Given the description of an element on the screen output the (x, y) to click on. 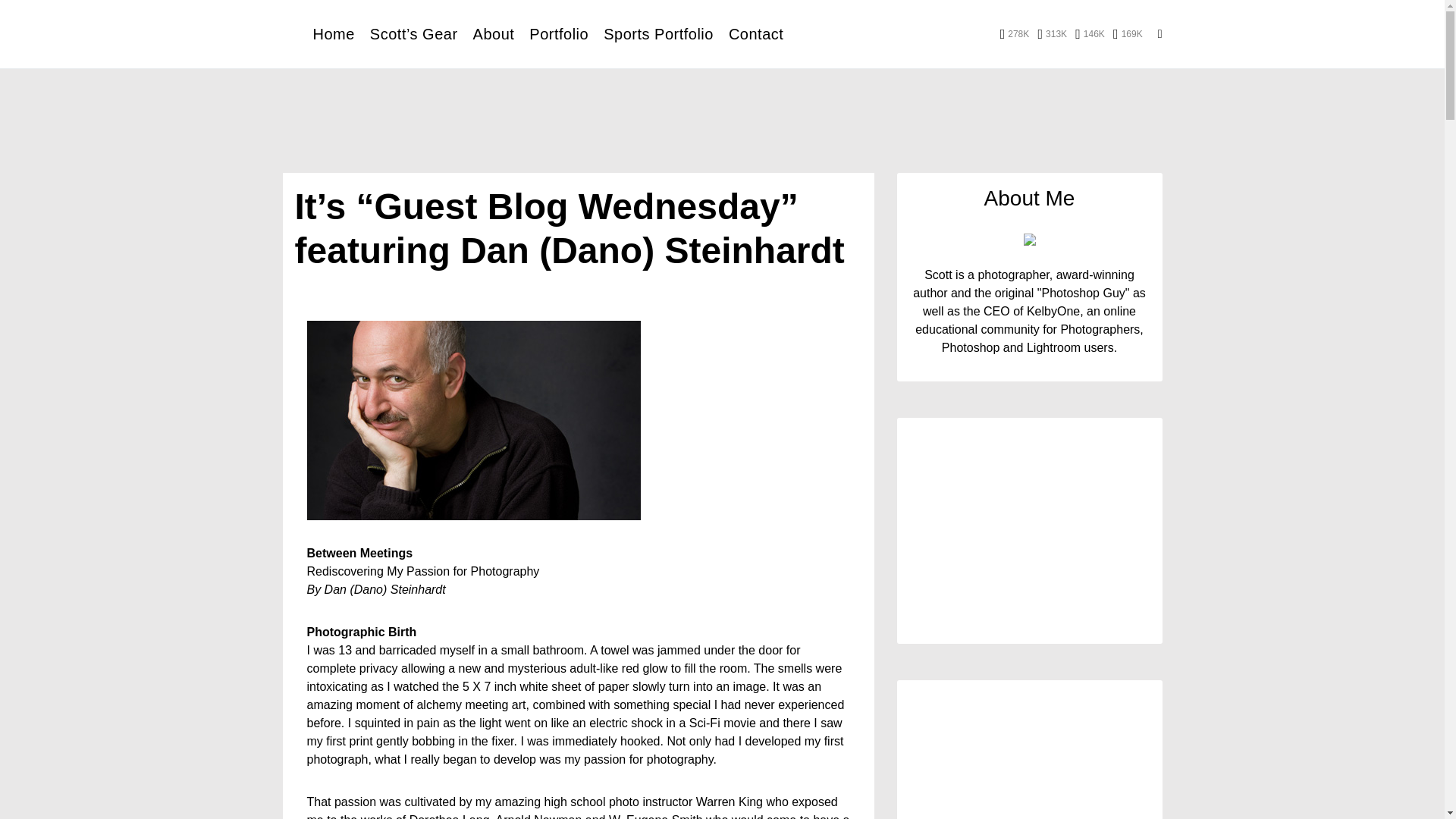
169K (1127, 33)
Sports Portfolio (658, 33)
313K (1051, 33)
146K (1090, 33)
278K (1014, 33)
